Given the description of an element on the screen output the (x, y) to click on. 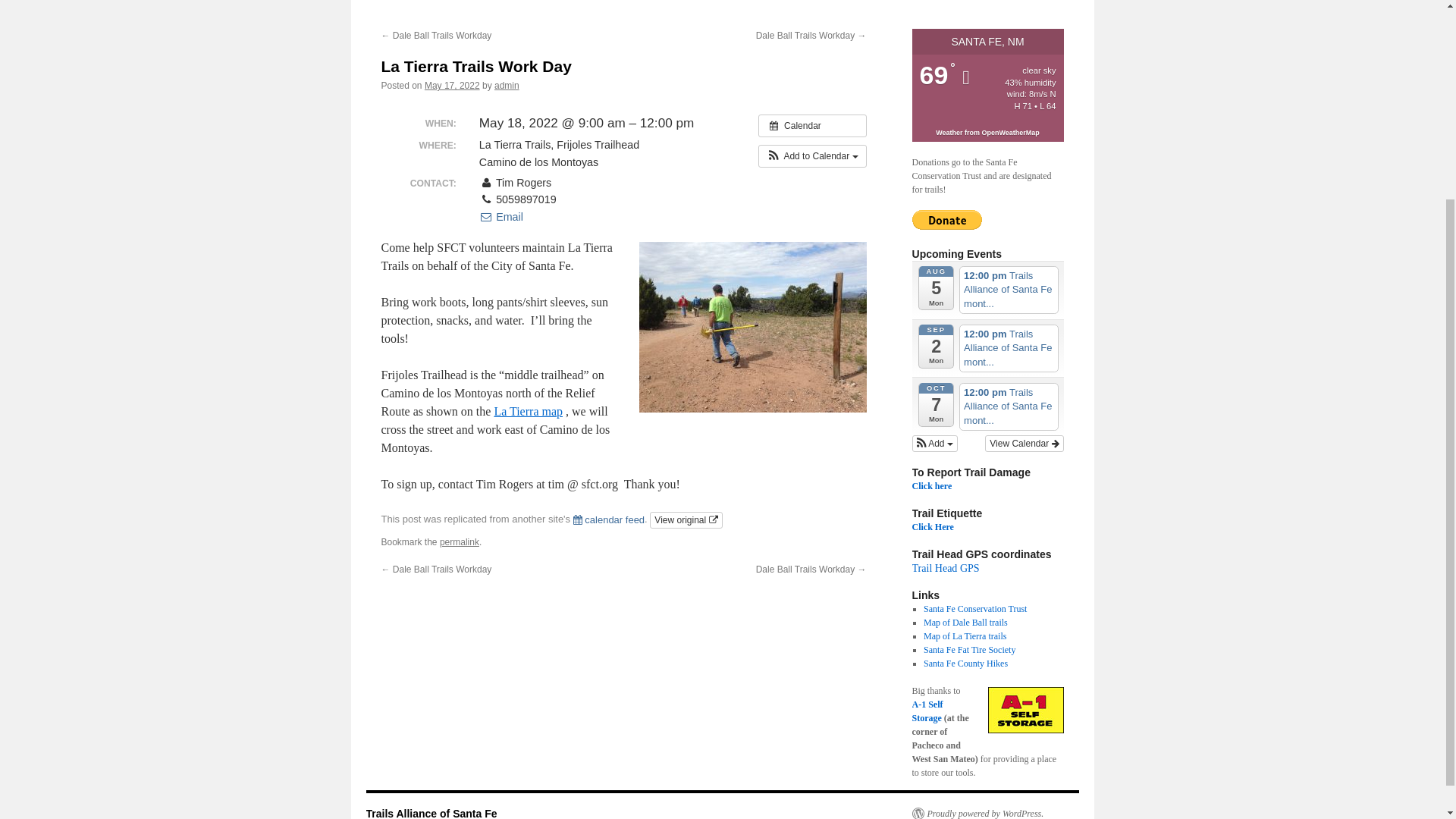
12:00 pm Trails Alliance of Santa Fe mont... (1008, 406)
Calendar (812, 125)
permalink (459, 542)
View all events (812, 125)
Email (500, 216)
View all posts by admin (507, 85)
iCalendar feed (609, 519)
calendar feed (609, 519)
12:00 pm Trails Alliance of Santa Fe mont... (1008, 289)
5:08 pm (452, 85)
12:00 pm Trails Alliance of Santa Fe mont... (1008, 348)
View original (685, 519)
admin (507, 85)
May 17, 2022 (452, 85)
Permalink to La Tierra Trails Work Day (459, 542)
